Given the description of an element on the screen output the (x, y) to click on. 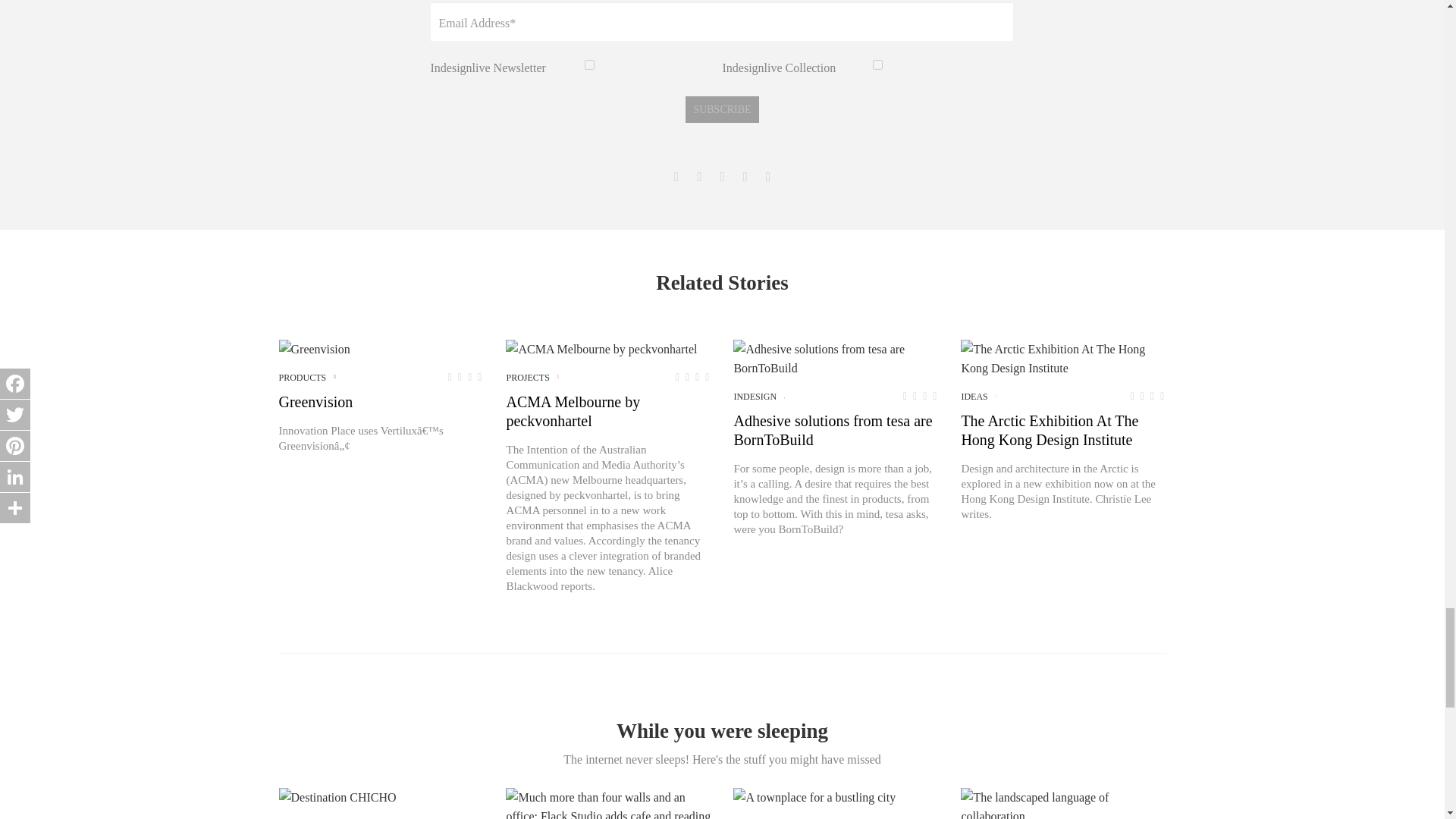
Destination CHICHO (337, 796)
Greenvision (314, 348)
yes (877, 64)
The Arctic Exhibition At The Hong Kong Design Institute (1063, 358)
Adhesive solutions from tesa are BornToBuild (835, 358)
ACMA Melbourne by peckvonhartel (601, 348)
yes (589, 64)
